Given the description of an element on the screen output the (x, y) to click on. 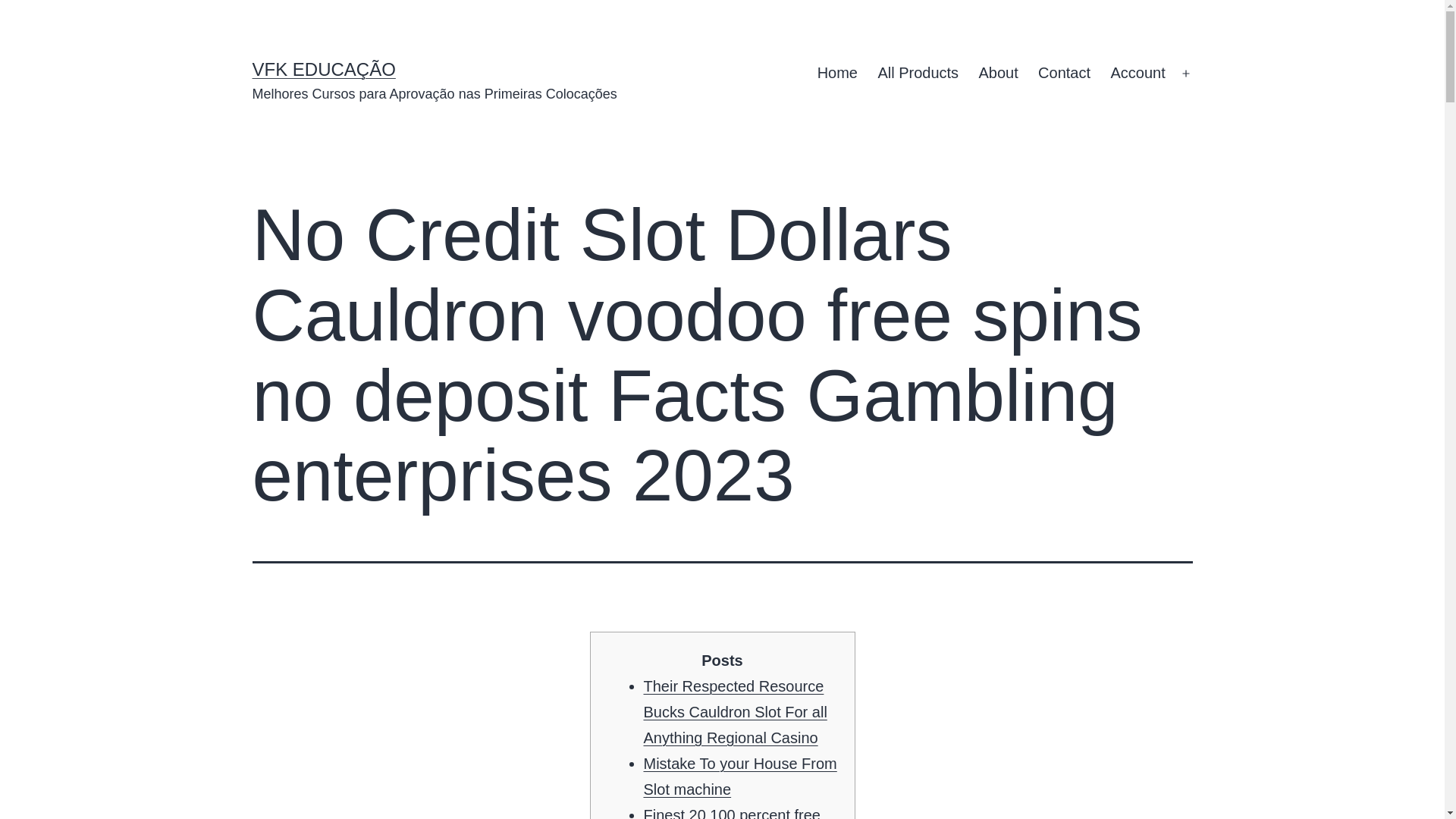
Mistake To your House From Slot machine (739, 776)
Account (1137, 73)
All Products (917, 73)
About (997, 73)
Contact (1063, 73)
Finest 20 100 percent free No (731, 812)
Home (836, 73)
